Given the description of an element on the screen output the (x, y) to click on. 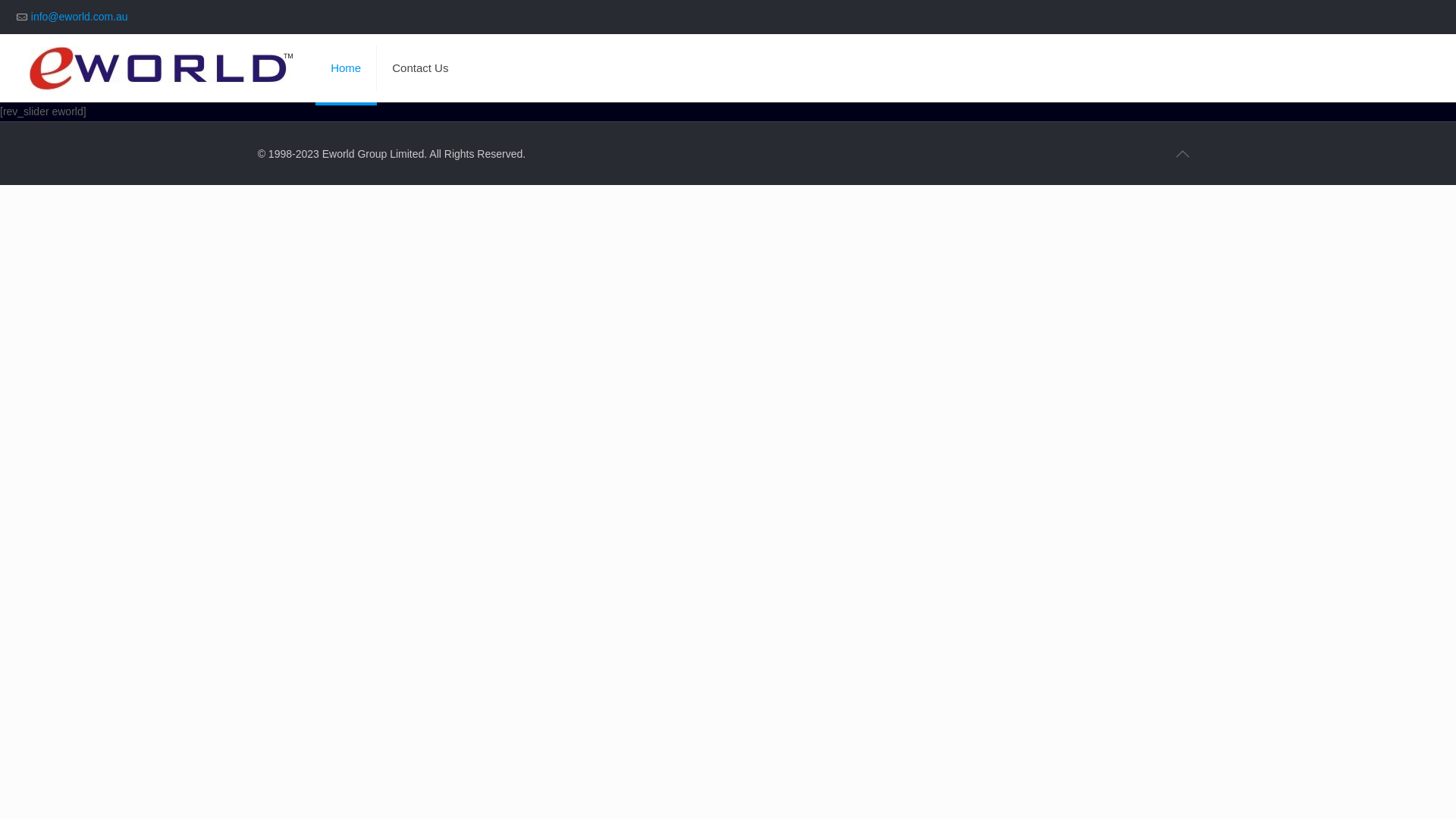
Home Element type: text (345, 68)
Contact Us Element type: text (419, 68)
info@eworld.com.au Element type: text (79, 16)
Eworld Group Element type: hover (160, 68)
